Given the description of an element on the screen output the (x, y) to click on. 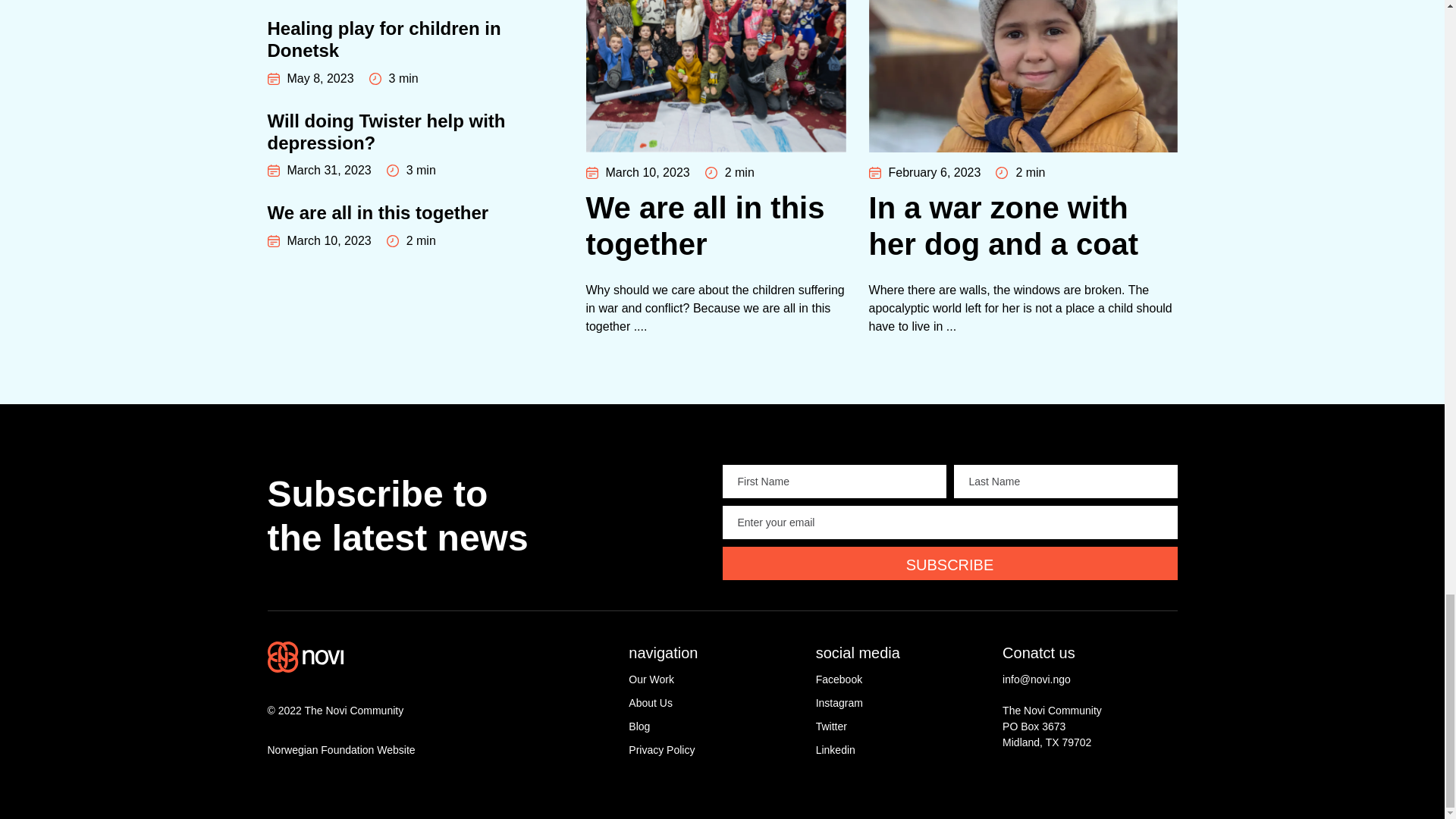
Instagram (902, 703)
Our Work (715, 679)
Facebook (902, 679)
Norwegian Foundation Website (440, 750)
Linkedin (902, 750)
Twitter (902, 726)
Privacy Policy (414, 52)
Subscribe (715, 750)
Subscribe (949, 563)
